Given the description of an element on the screen output the (x, y) to click on. 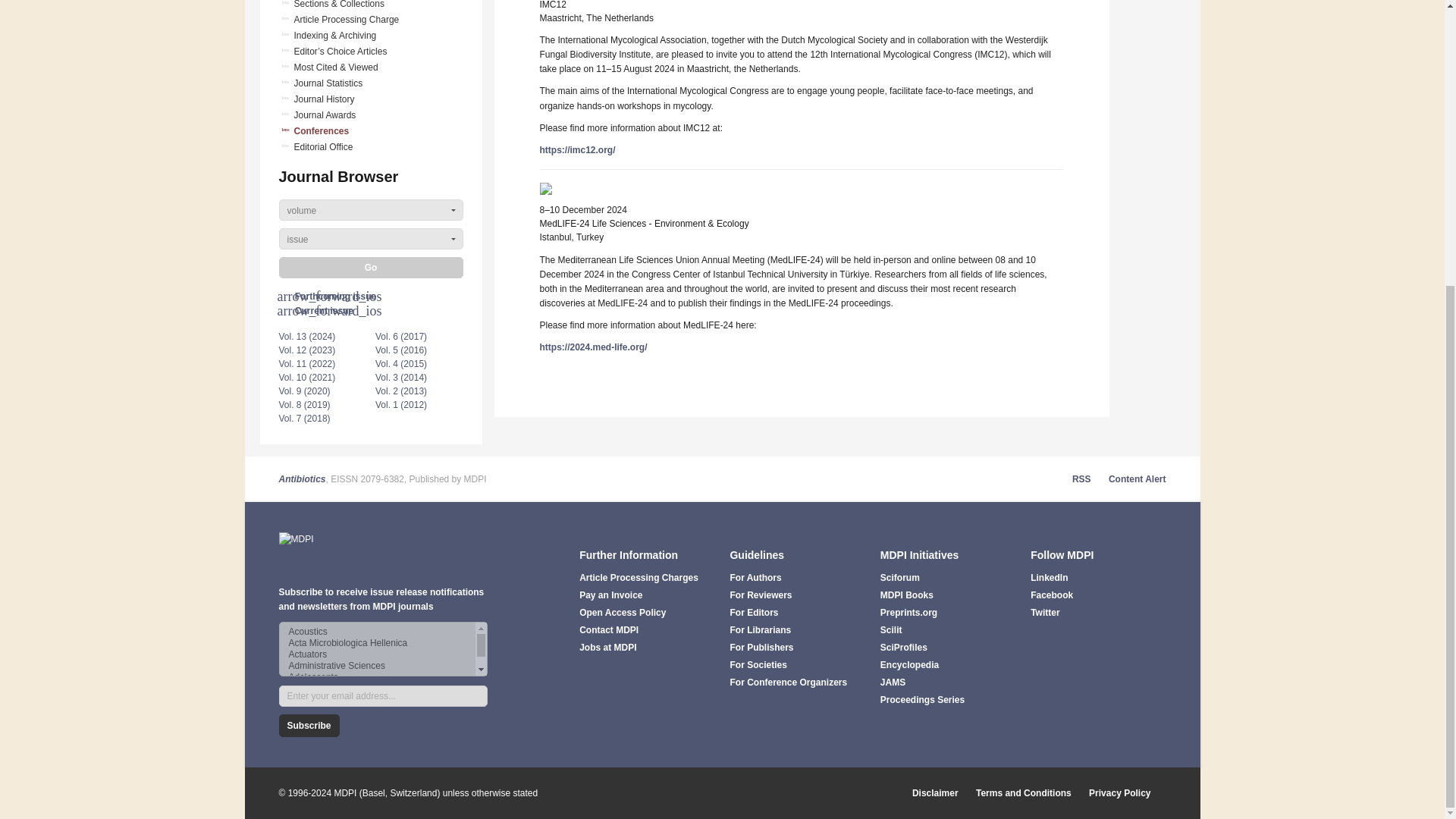
Go (371, 267)
MDPI Open Access Journals (383, 551)
